Given the description of an element on the screen output the (x, y) to click on. 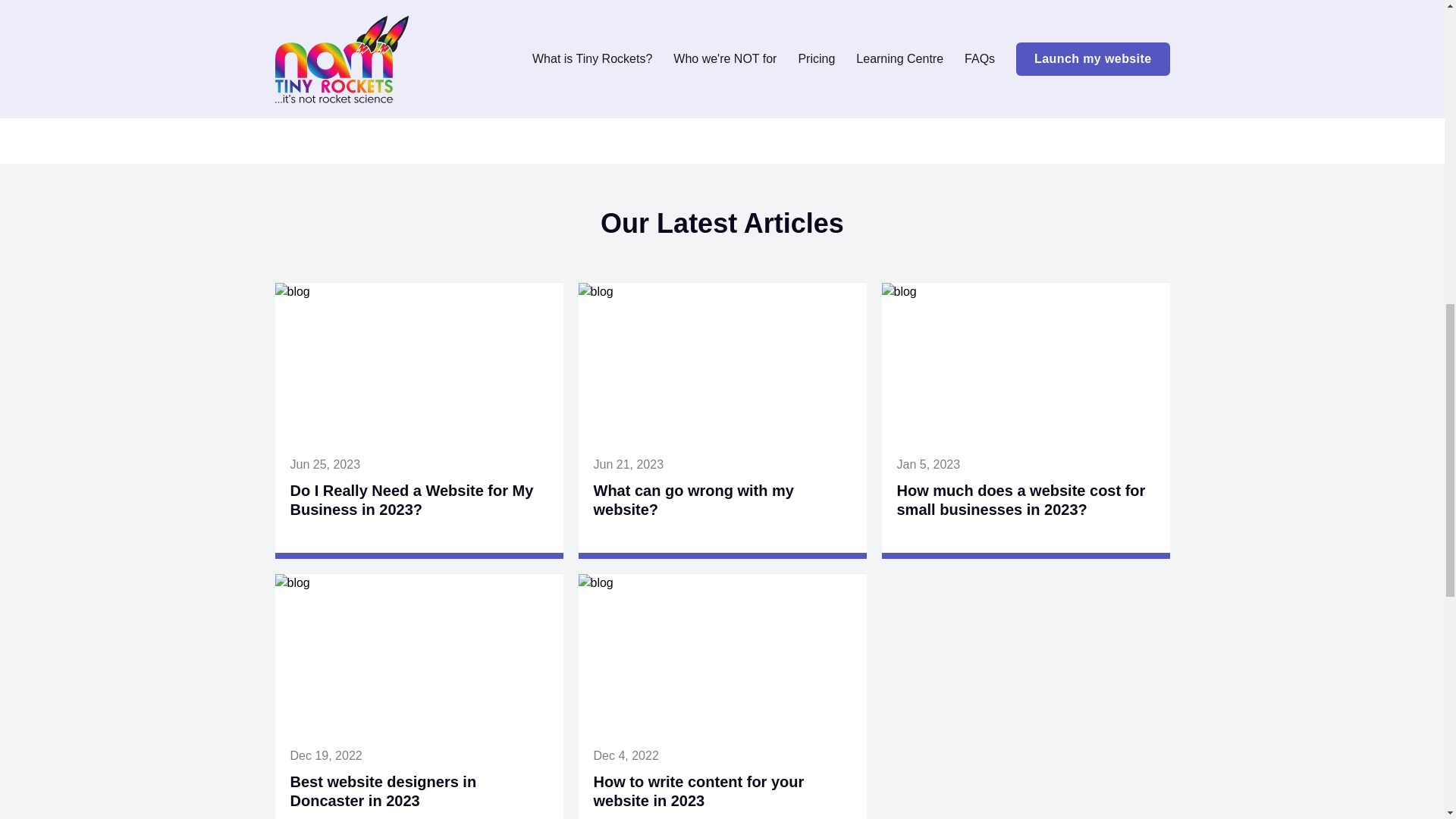
Best website designers in Doncaster in 2023 (382, 791)
How much does a website cost for small businesses in 2023? (1020, 499)
What can go wrong with my website? (692, 499)
How to write content for your website in 2023 (697, 791)
Do I Really Need a Website for My Business in 2023? (410, 499)
